Given the description of an element on the screen output the (x, y) to click on. 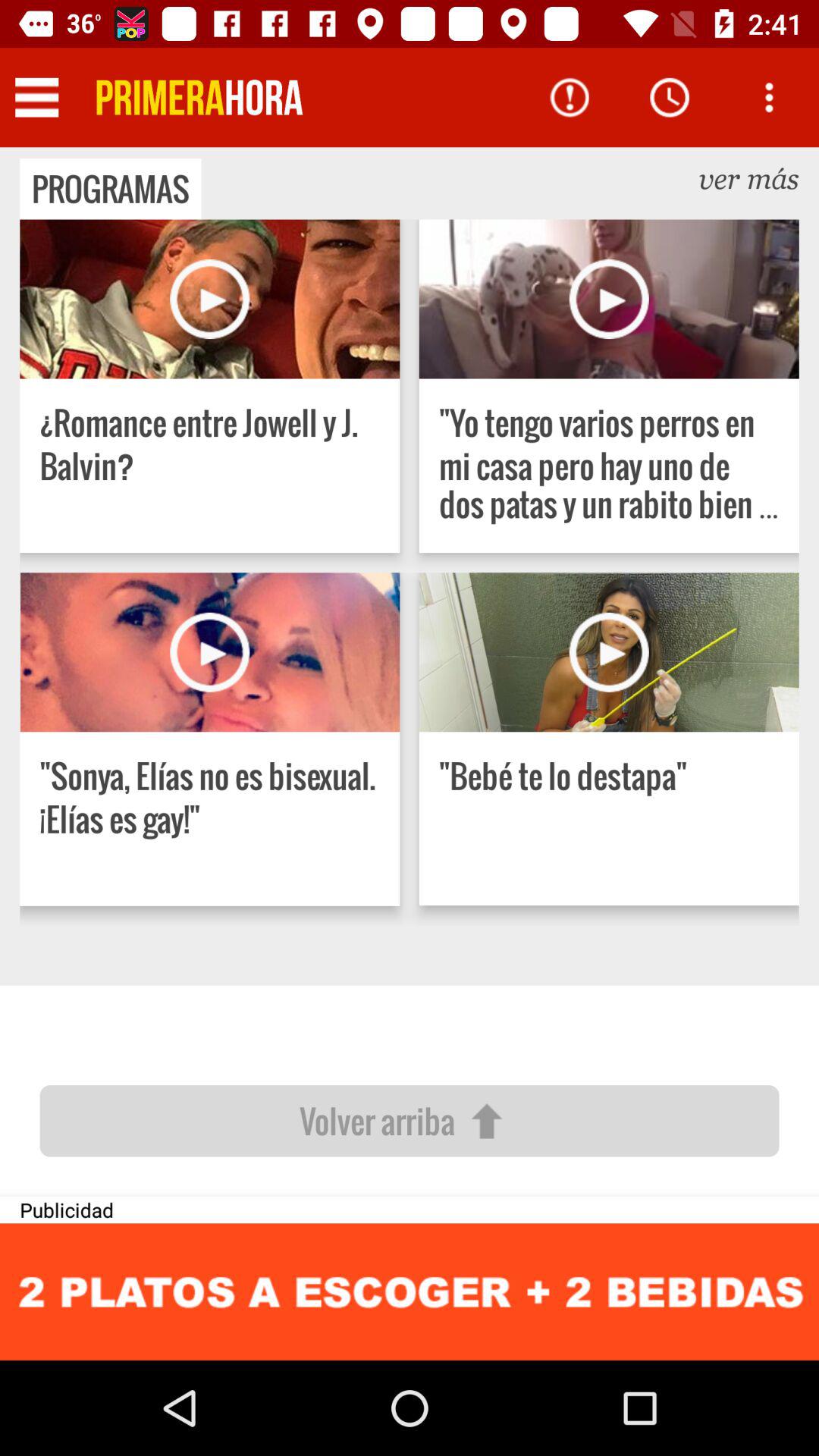
click for list view (36, 97)
